Given the description of an element on the screen output the (x, y) to click on. 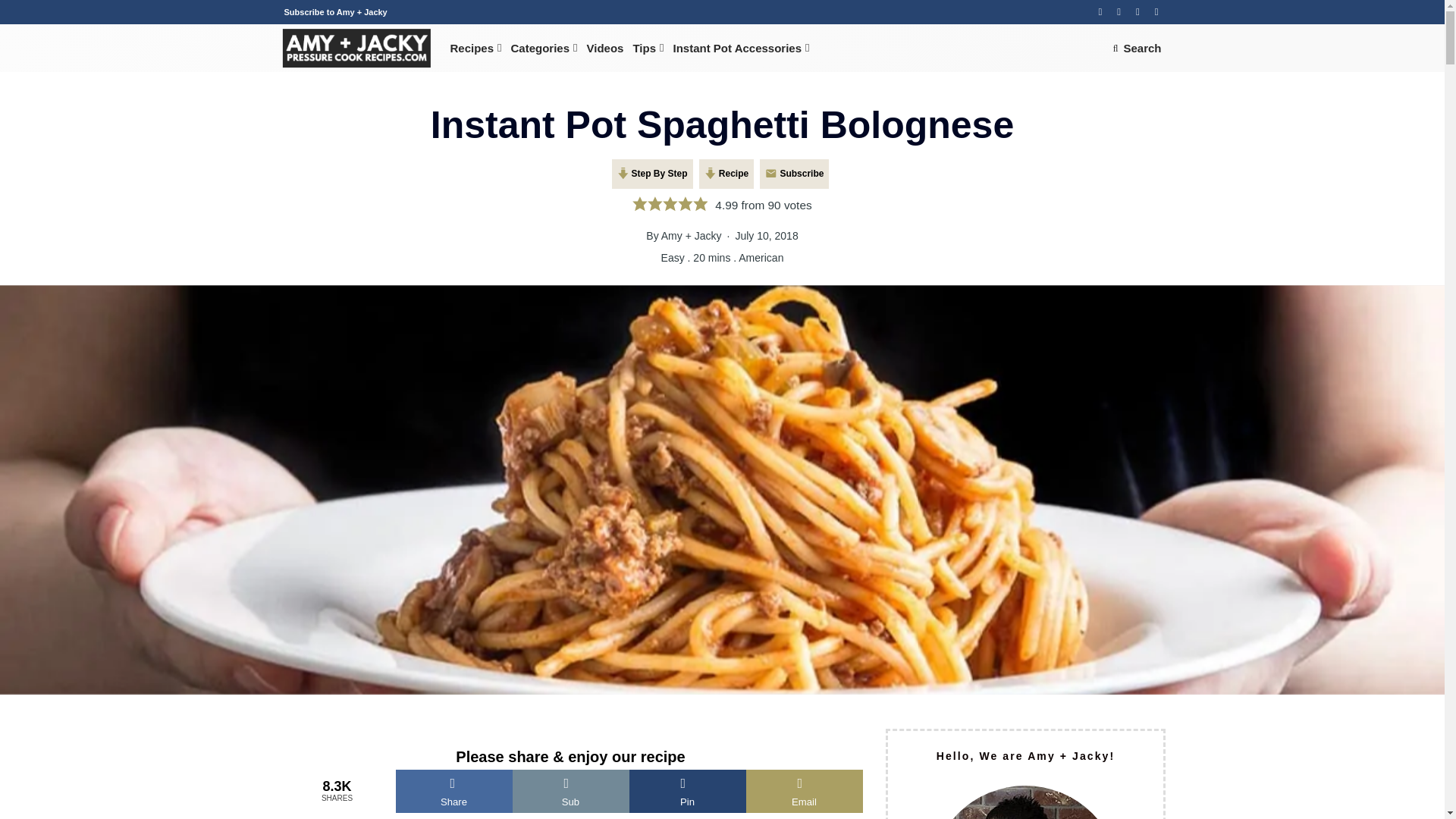
Pin (686, 791)
Search (1137, 48)
Share on Share (454, 791)
Sub (570, 791)
Recipes (475, 48)
Share on Email (804, 791)
Share on Sub (570, 791)
Step By Step (652, 173)
Share on Pin (686, 791)
Share (454, 791)
Categories (544, 48)
Instant Pot Accessories (740, 48)
Subscribe (794, 173)
Tips (647, 48)
Videos (605, 48)
